Given the description of an element on the screen output the (x, y) to click on. 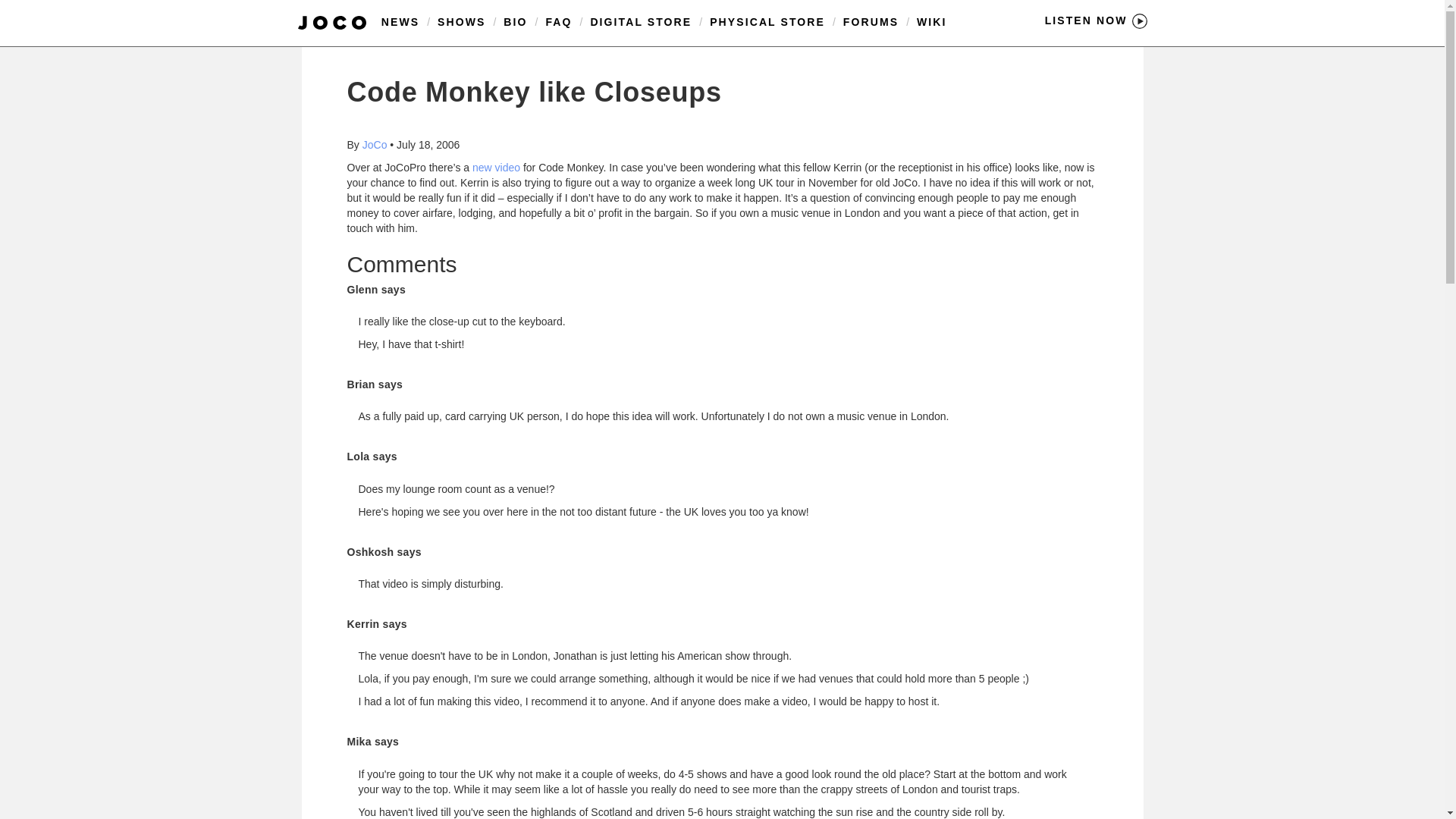
BIO (515, 21)
LISTEN NOW (1096, 20)
WIKI (932, 21)
SHOWS (461, 21)
FAQ (558, 21)
new video (495, 167)
FORUMS (870, 21)
DIGITAL STORE (640, 21)
NEWS (400, 21)
PHYSICAL STORE (767, 21)
